Given the description of an element on the screen output the (x, y) to click on. 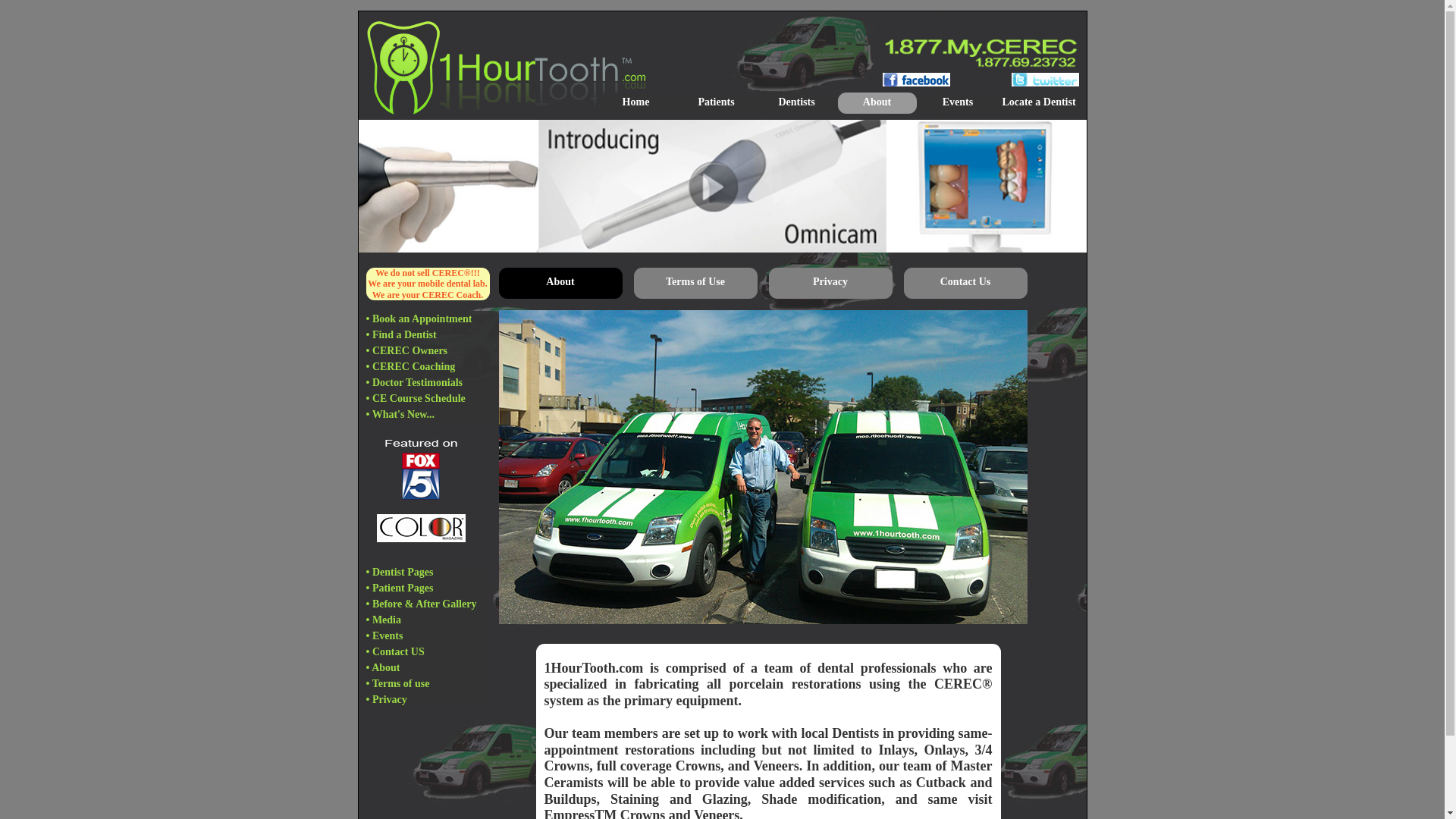
Terms of Use Element type: text (695, 282)
About Element type: text (876, 102)
Locate a Dentist Element type: text (1039, 102)
Privacy Element type: text (830, 282)
Home Element type: text (635, 102)
Contact Us Element type: text (965, 282)
About Element type: text (560, 282)
Patients Element type: text (715, 102)
Events Element type: text (957, 102)
Dentists Element type: text (795, 102)
